Given the description of an element on the screen output the (x, y) to click on. 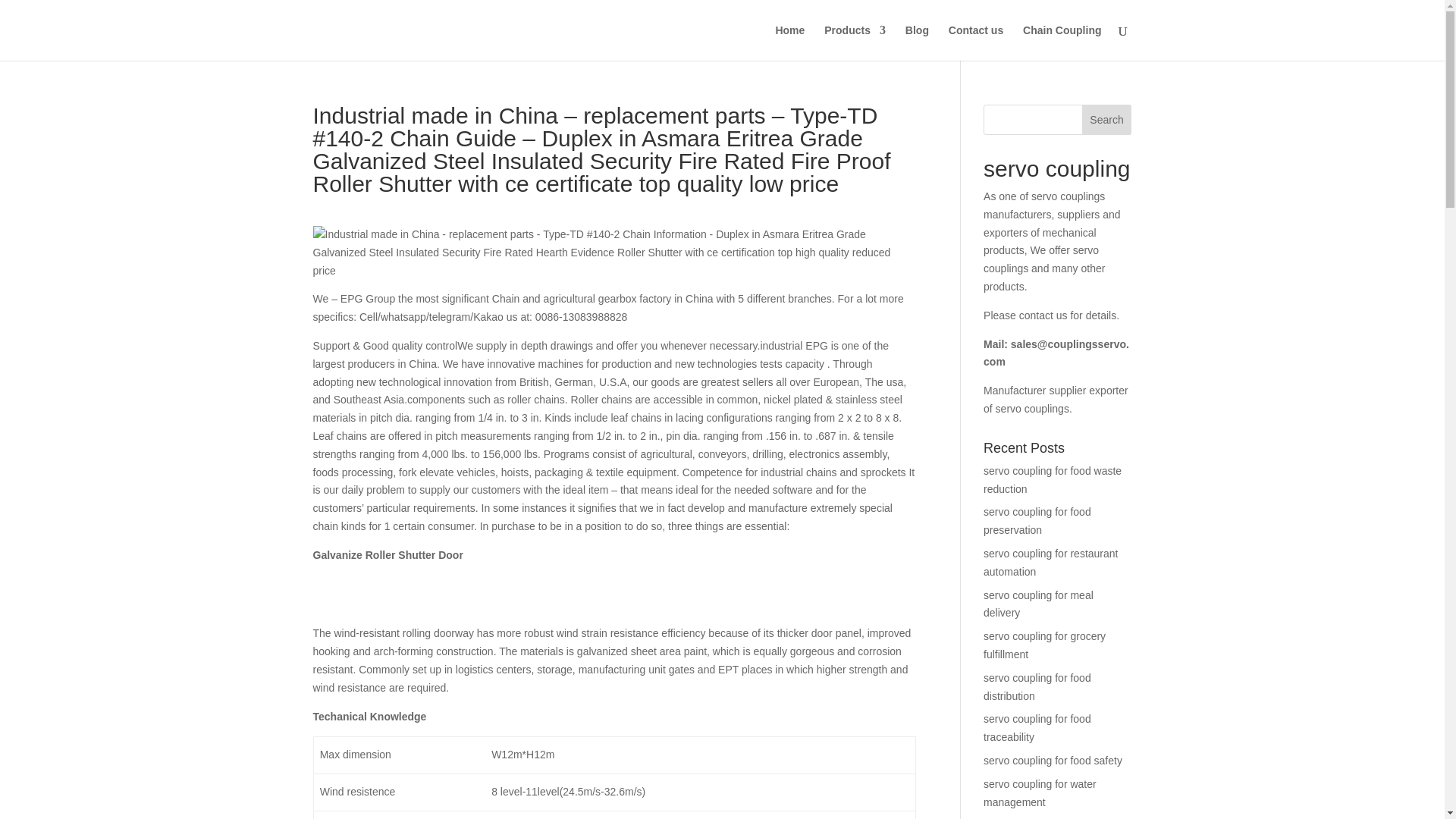
servo coupling for food safety (1053, 760)
servo coupling for food preservation (1037, 521)
Search (1106, 119)
servo coupling for meal delivery (1038, 603)
servo coupling for food waste reduction (1052, 480)
servo coupling for food distribution (1037, 686)
Blog (916, 42)
Contact us (976, 42)
servo coupling for food traceability (1037, 727)
Search (1106, 119)
Home (789, 42)
Chain Coupling (1061, 42)
Products (854, 42)
servo coupling for grocery fulfillment (1044, 644)
servo coupling for restaurant automation (1051, 562)
